Given the description of an element on the screen output the (x, y) to click on. 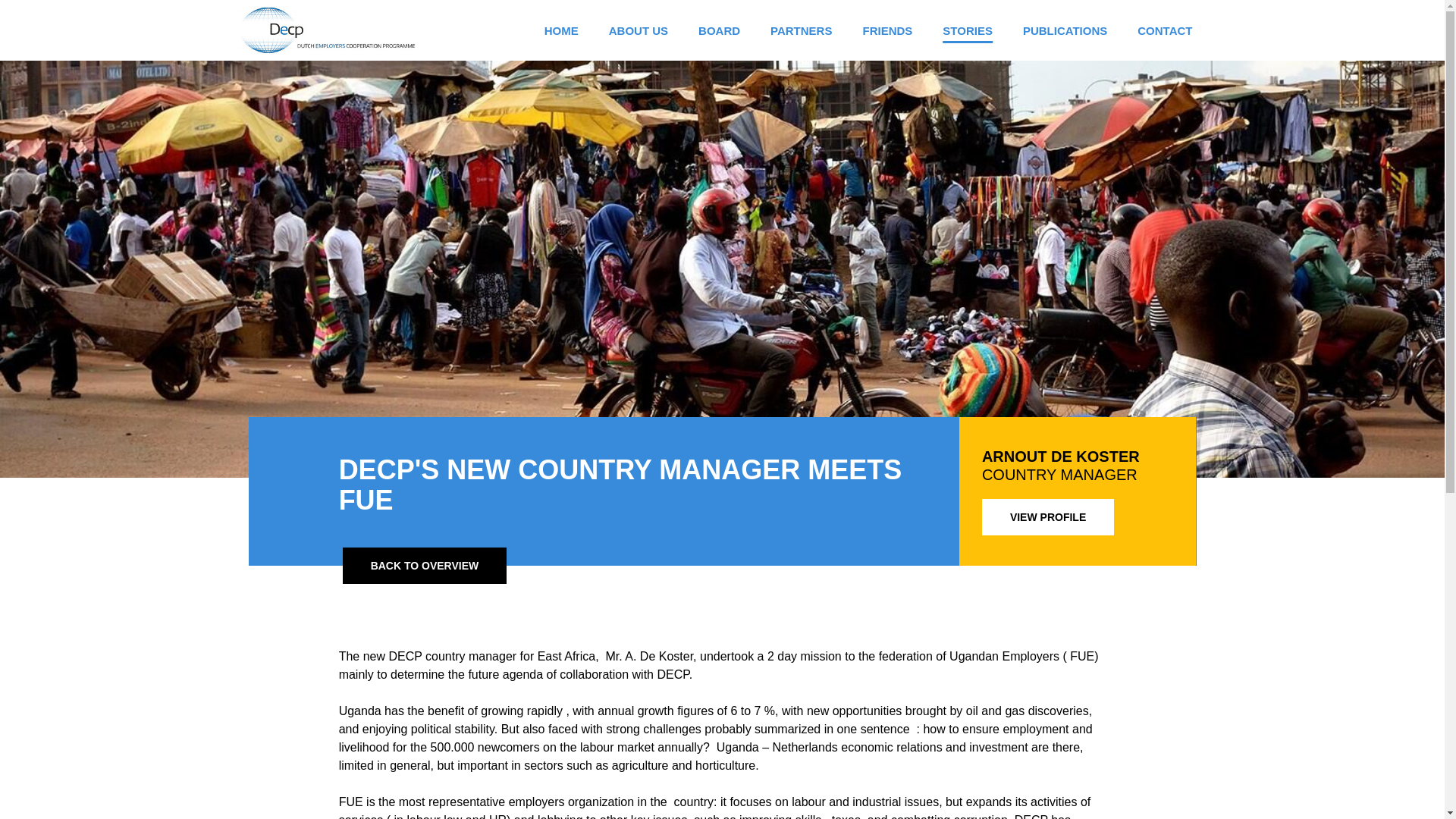
BOARD (718, 29)
PUBLICATIONS (1064, 29)
ABOUT US (638, 29)
PARTNERS (800, 29)
BACK TO OVERVIEW (424, 565)
FRIENDS (886, 29)
VIEW PROFILE (1047, 516)
STORIES (967, 29)
HOME (561, 29)
CONTACT (1164, 29)
